Given the description of an element on the screen output the (x, y) to click on. 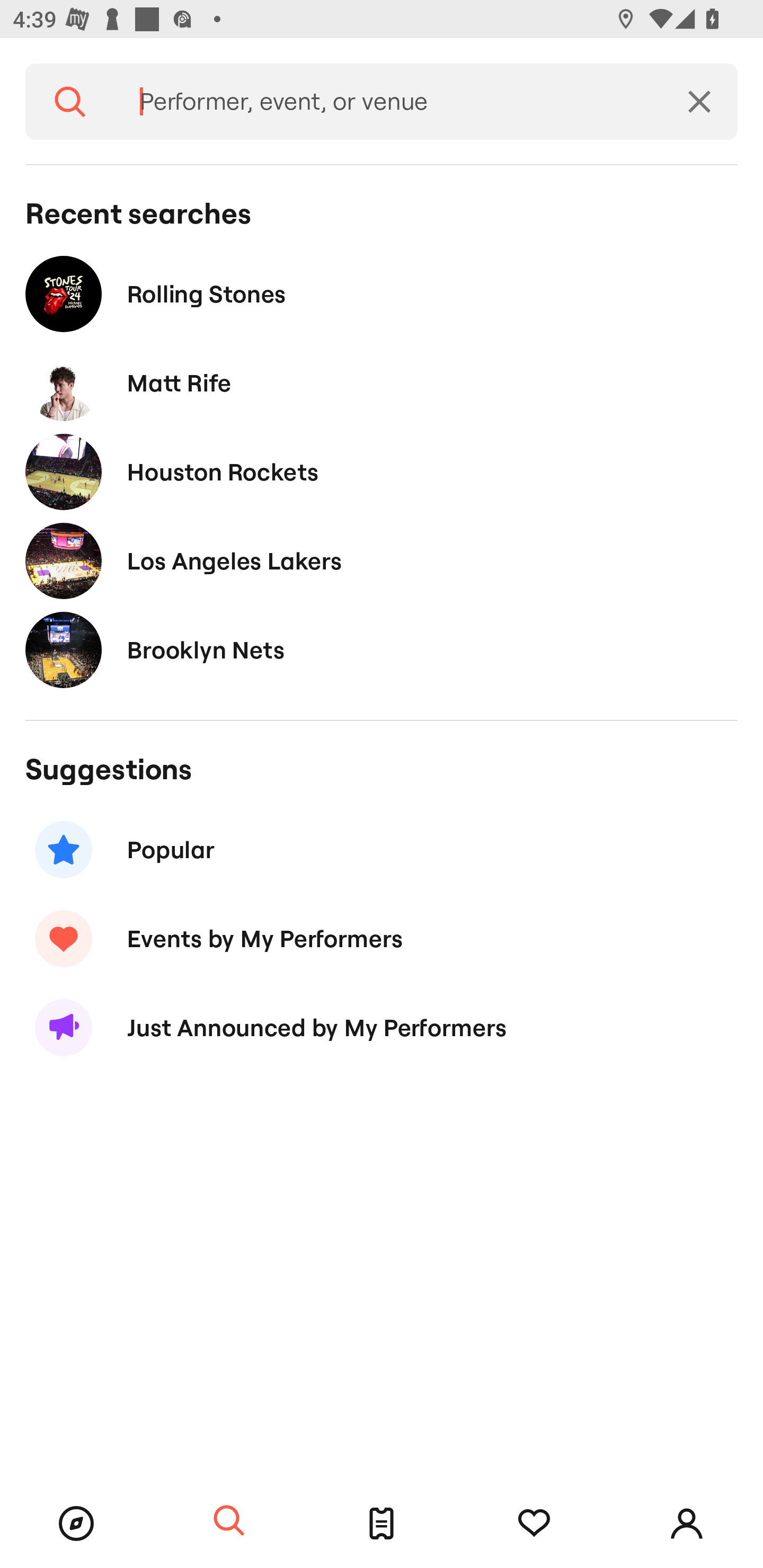
Search (69, 101)
Performer, event, or venue (387, 101)
Clear (699, 101)
Rolling Stones (381, 293)
Matt Rife (381, 383)
Houston Rockets (381, 471)
Los Angeles Lakers (381, 560)
Brooklyn Nets (381, 649)
Popular (381, 849)
Events by My Performers (381, 938)
Just Announced by My Performers (381, 1027)
Browse (76, 1523)
Search (228, 1521)
Tickets (381, 1523)
Tracking (533, 1523)
Account (686, 1523)
